Given the description of an element on the screen output the (x, y) to click on. 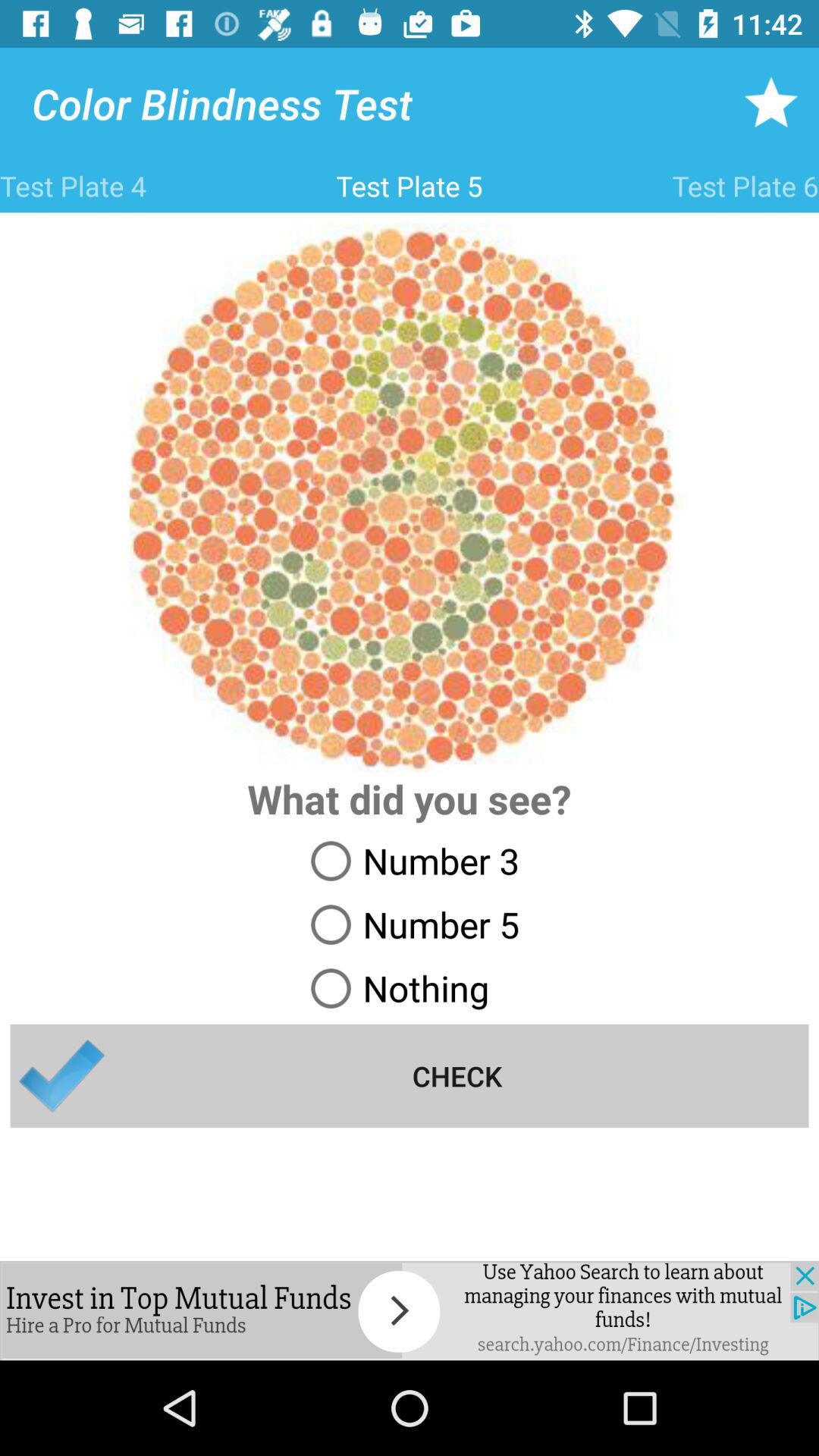
find out here if you are color blind (409, 1310)
